Given the description of an element on the screen output the (x, y) to click on. 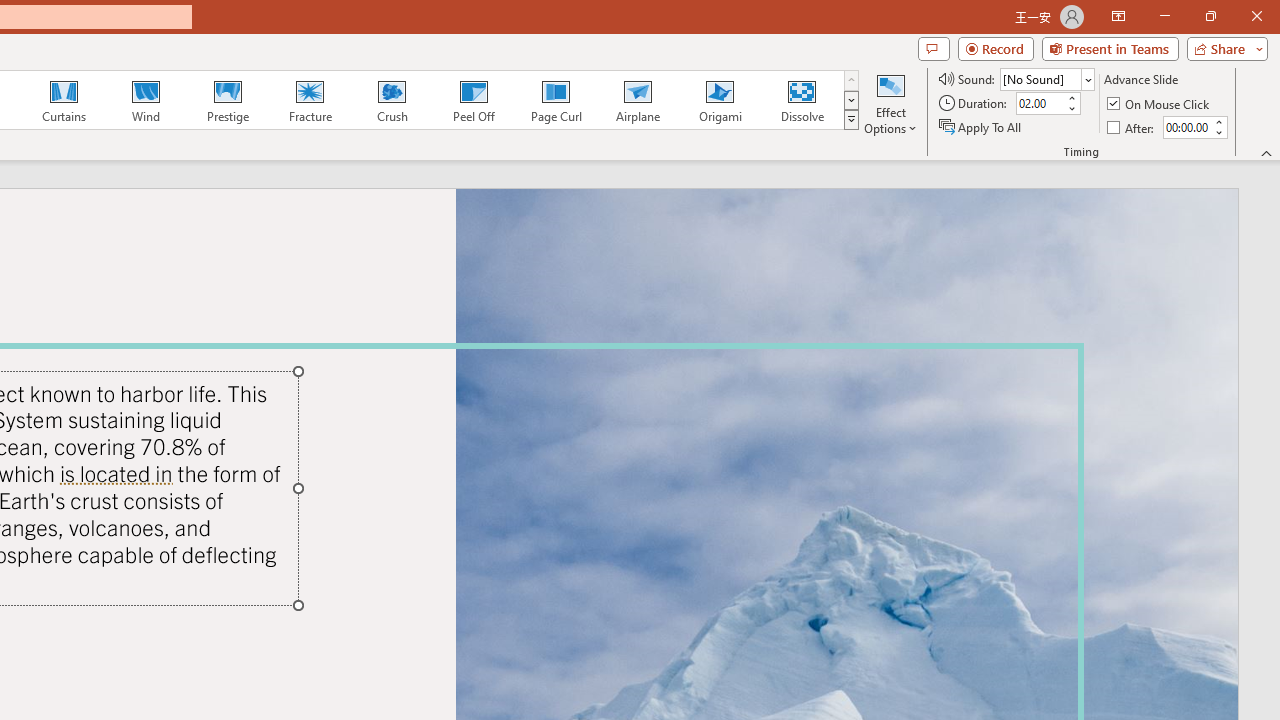
Sound (1046, 78)
Apply To All (981, 126)
Airplane (637, 100)
On Mouse Click (1159, 103)
Duration (1039, 103)
Page Curl (555, 100)
Wind (145, 100)
Curtains (63, 100)
Peel Off (473, 100)
